Given the description of an element on the screen output the (x, y) to click on. 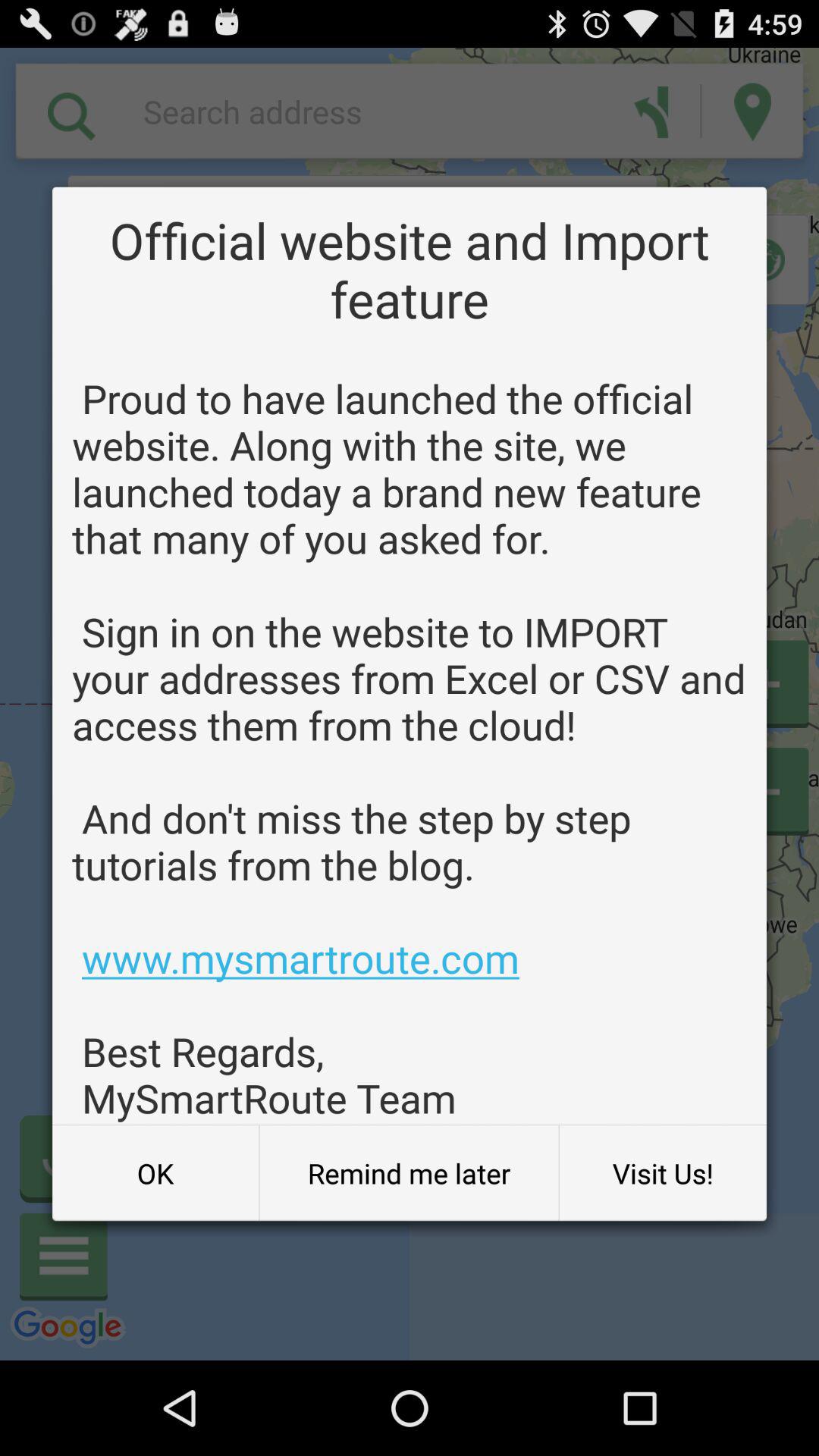
turn on button next to the visit us! item (408, 1173)
